Given the description of an element on the screen output the (x, y) to click on. 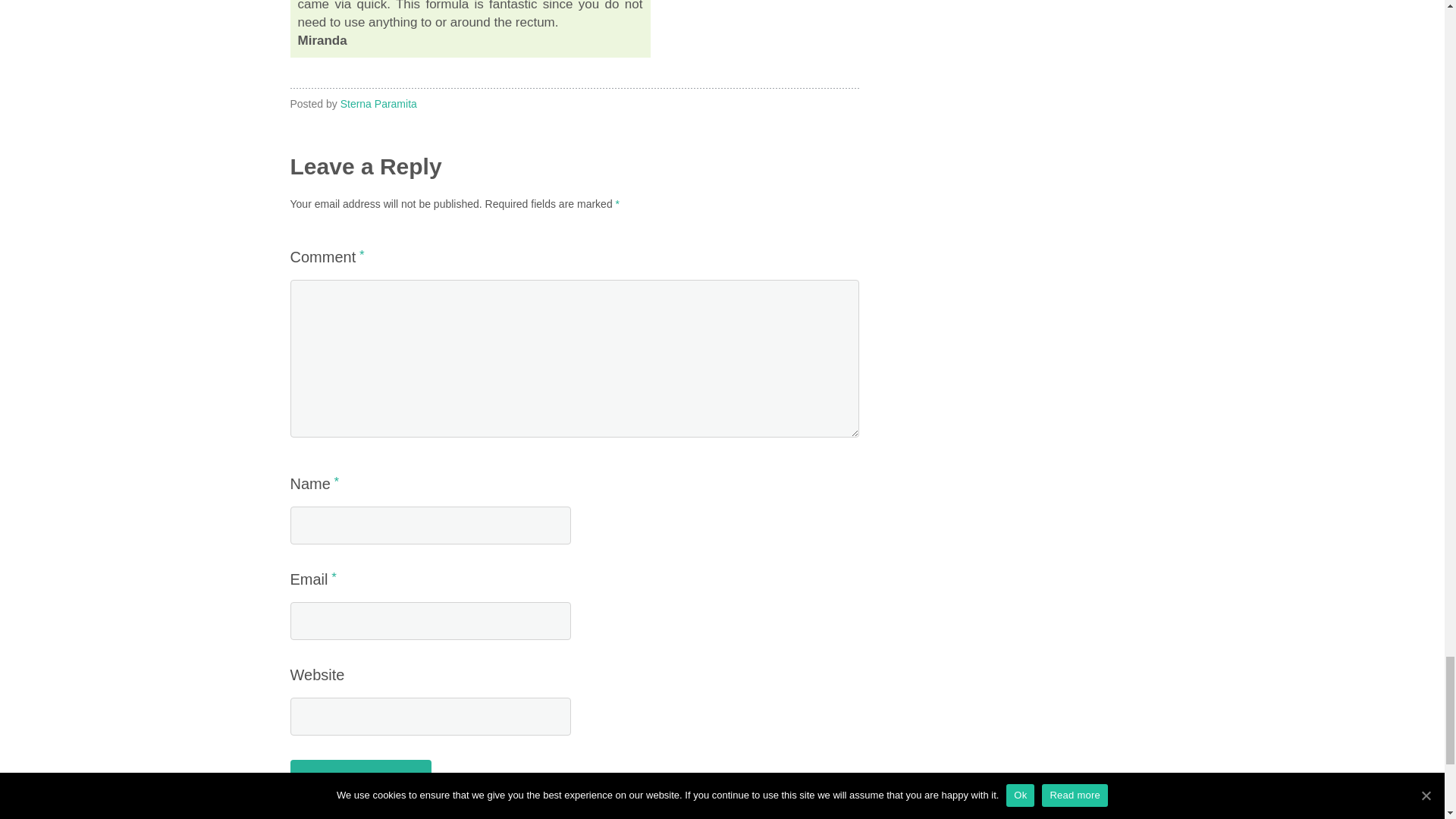
Post Comment (359, 778)
Posts by Sterna Paramita (378, 103)
Sterna Paramita (378, 103)
Post Comment (359, 778)
